Given the description of an element on the screen output the (x, y) to click on. 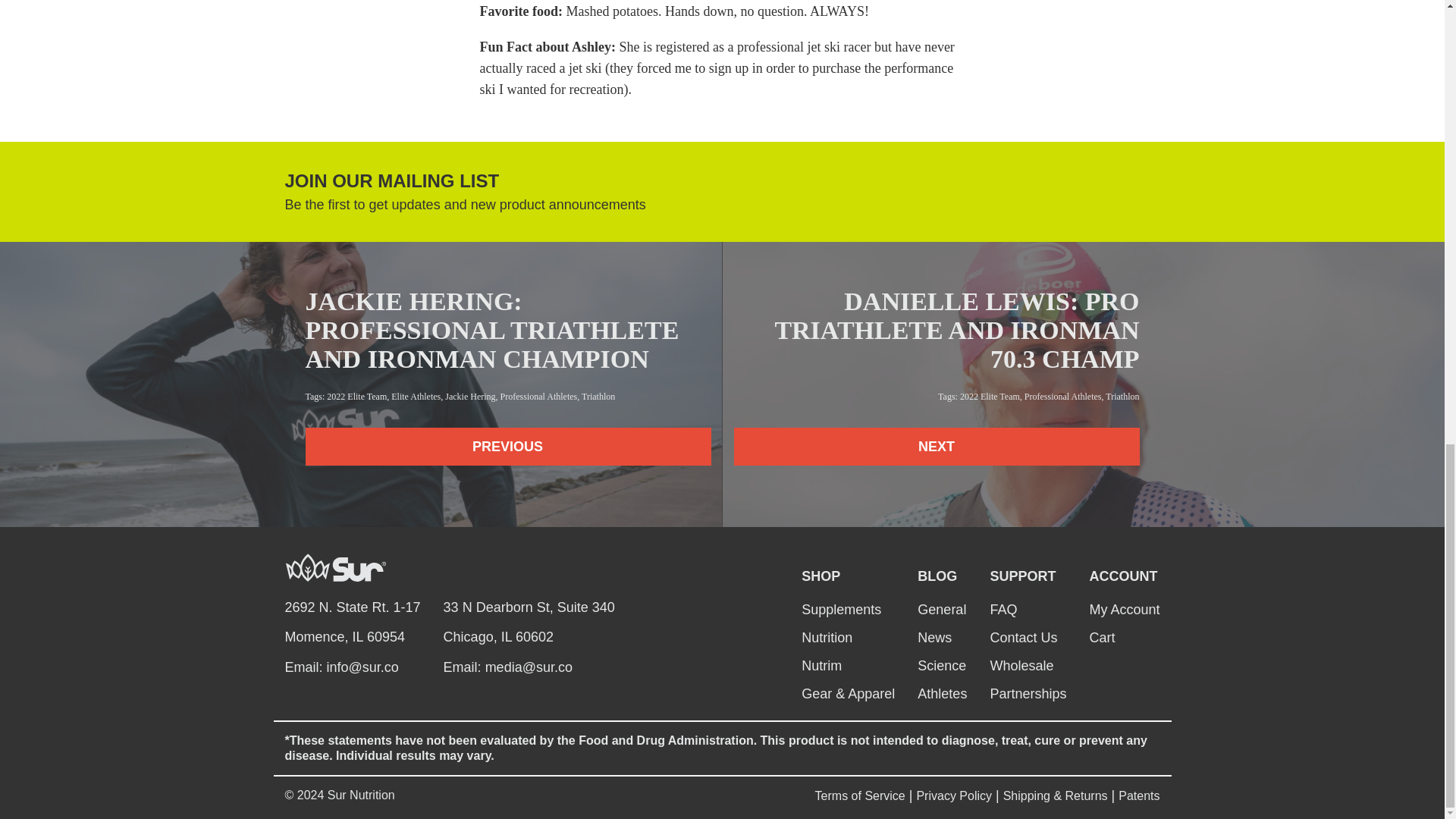
Triathlon (597, 396)
Jackie Hering (470, 396)
Elite Athletes (416, 396)
2022 Elite Team (356, 396)
Professional Athletes (1063, 396)
2022 Elite Team (989, 396)
PREVIOUS (507, 446)
Triathlon (1121, 396)
Professional Athletes (539, 396)
NEXT (936, 446)
